Given the description of an element on the screen output the (x, y) to click on. 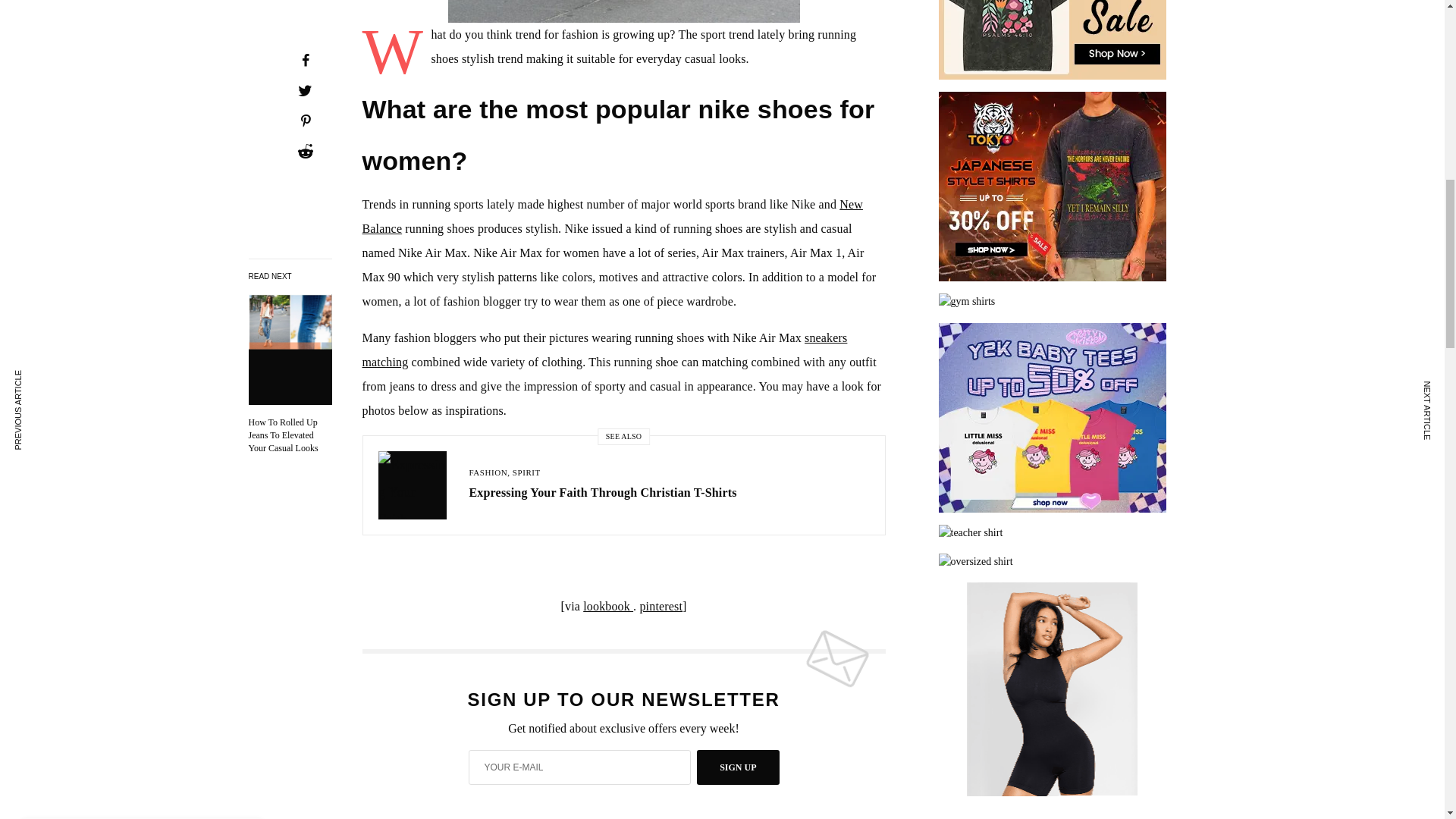
christian t shirts (1052, 39)
Japanese t shirts (1052, 186)
teacher shirt (1052, 532)
baby tees (1052, 417)
gym shirts (1052, 301)
Expressing Your Faith Through Christian T-Shirts (602, 492)
